Given the description of an element on the screen output the (x, y) to click on. 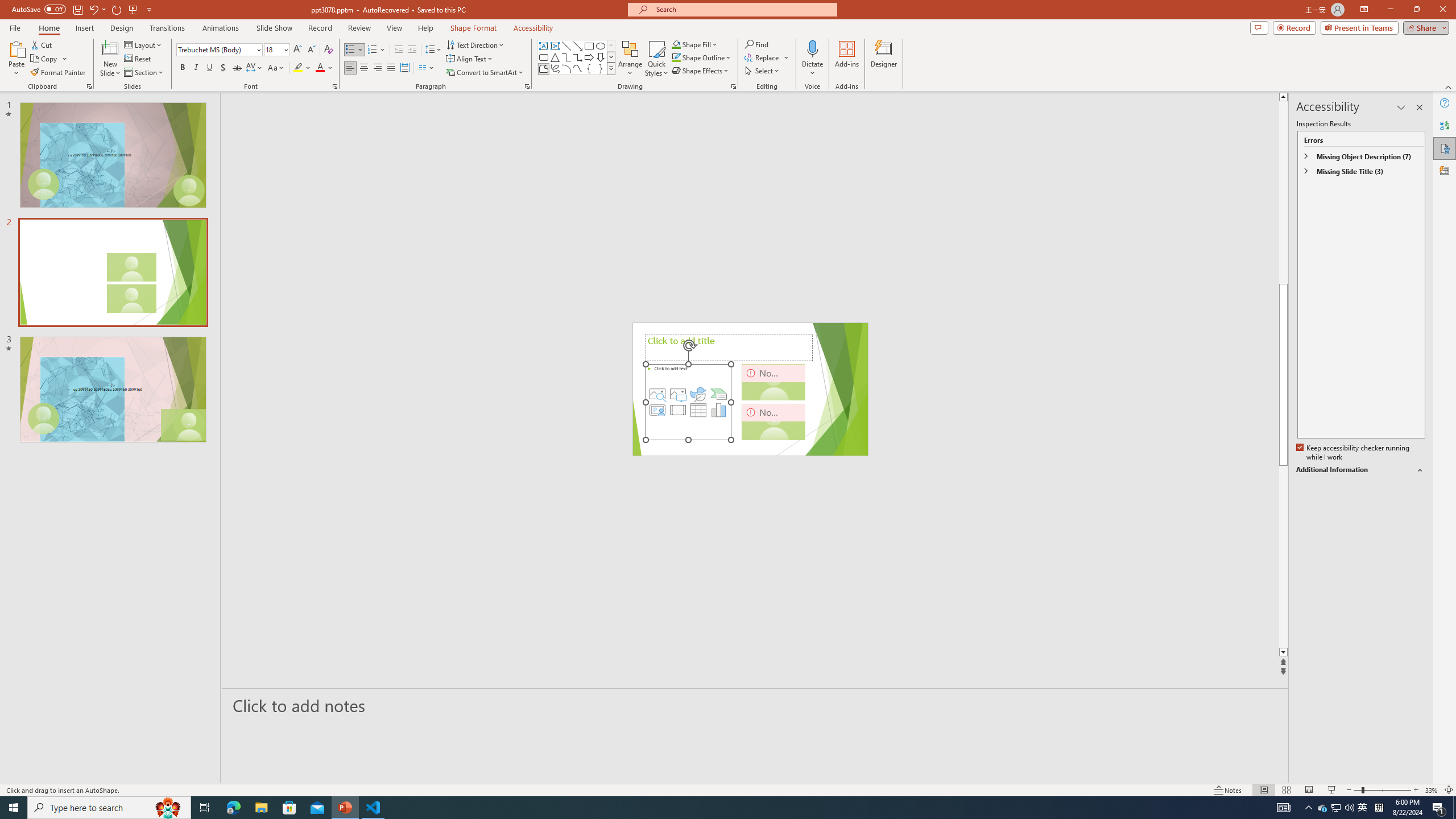
Insert an Icon (697, 394)
